Given the description of an element on the screen output the (x, y) to click on. 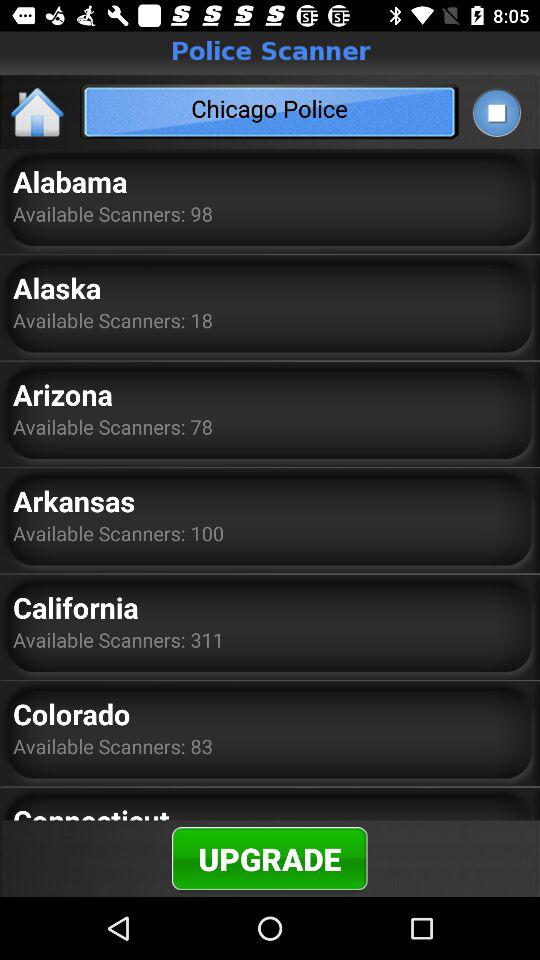
flip until colorado (71, 713)
